Given the description of an element on the screen output the (x, y) to click on. 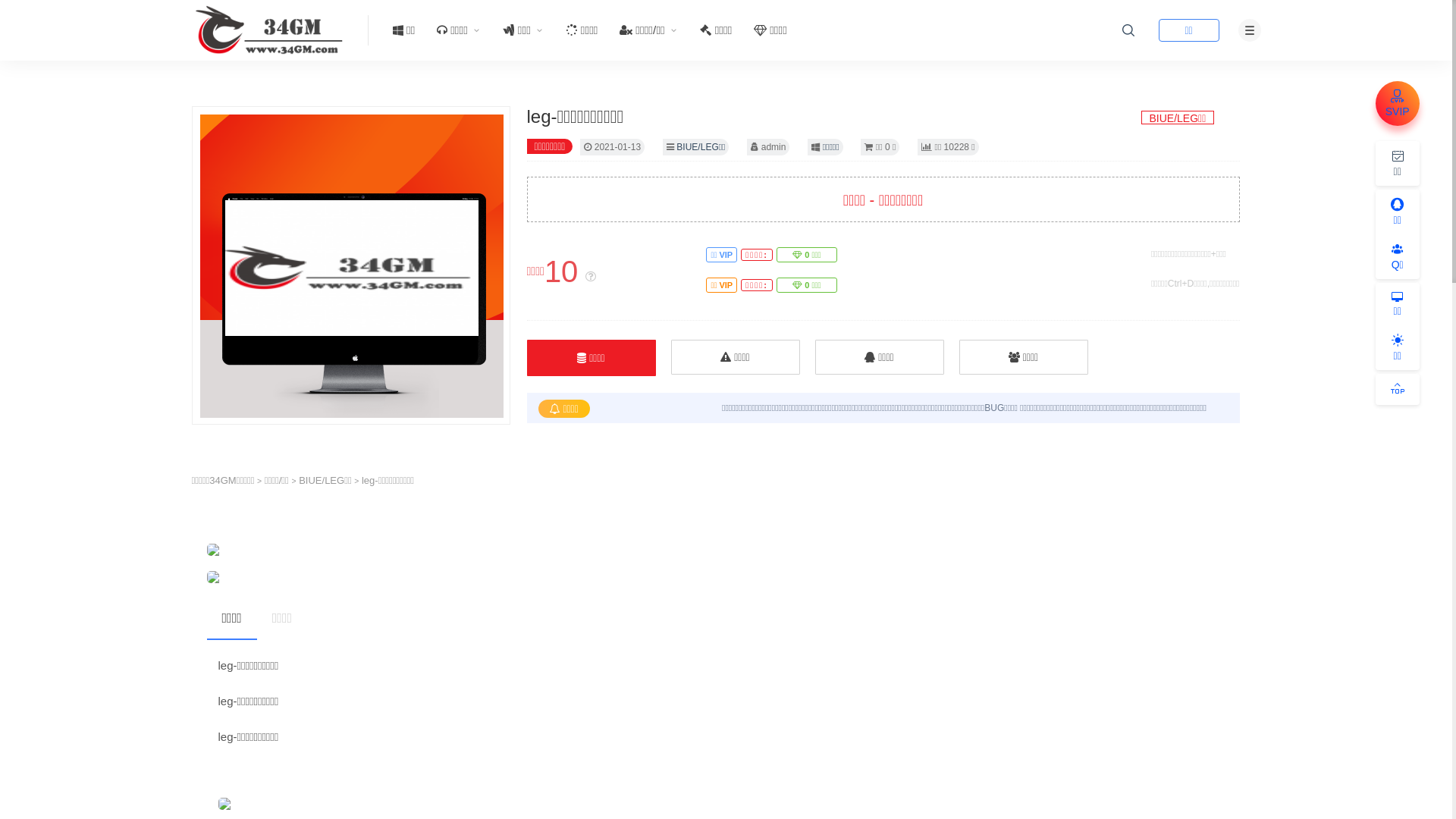
SVIP Element type: text (1397, 103)
